Given the description of an element on the screen output the (x, y) to click on. 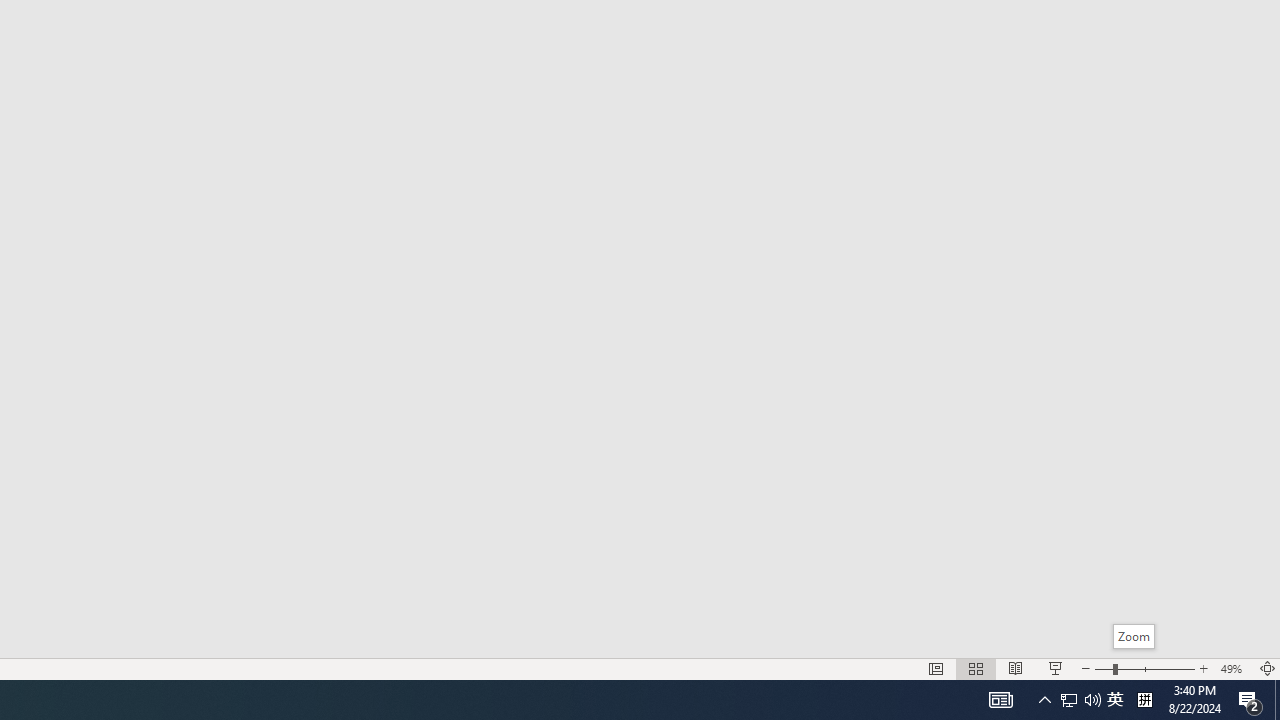
Zoom 49% (1234, 668)
